Given the description of an element on the screen output the (x, y) to click on. 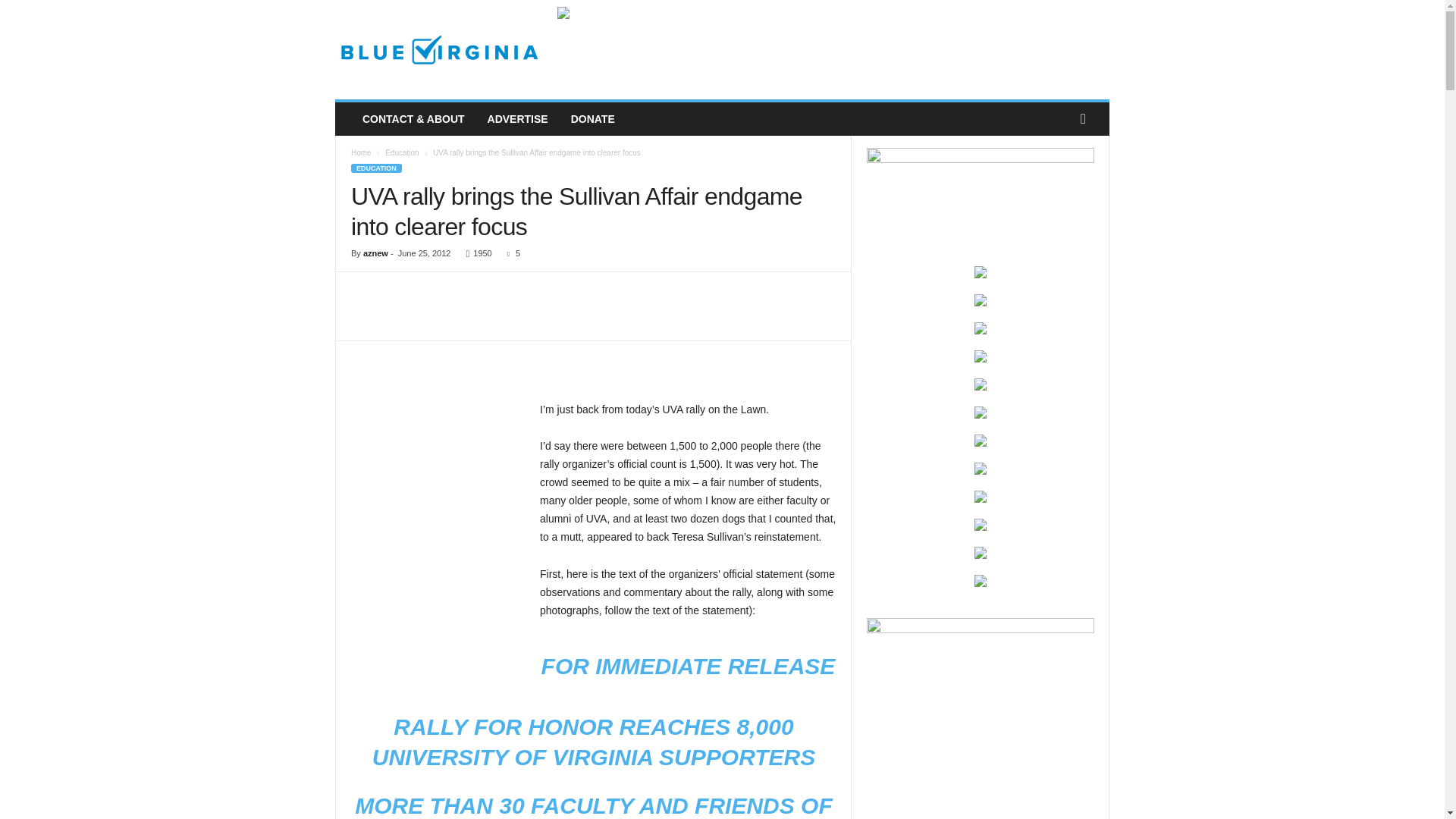
DONATE (592, 118)
ADVERTISE (517, 118)
5 (509, 252)
Education (402, 152)
Home (360, 152)
aznew (375, 252)
Blue Virginia (437, 49)
EDUCATION (375, 167)
View all posts in Education (402, 152)
